Given the description of an element on the screen output the (x, y) to click on. 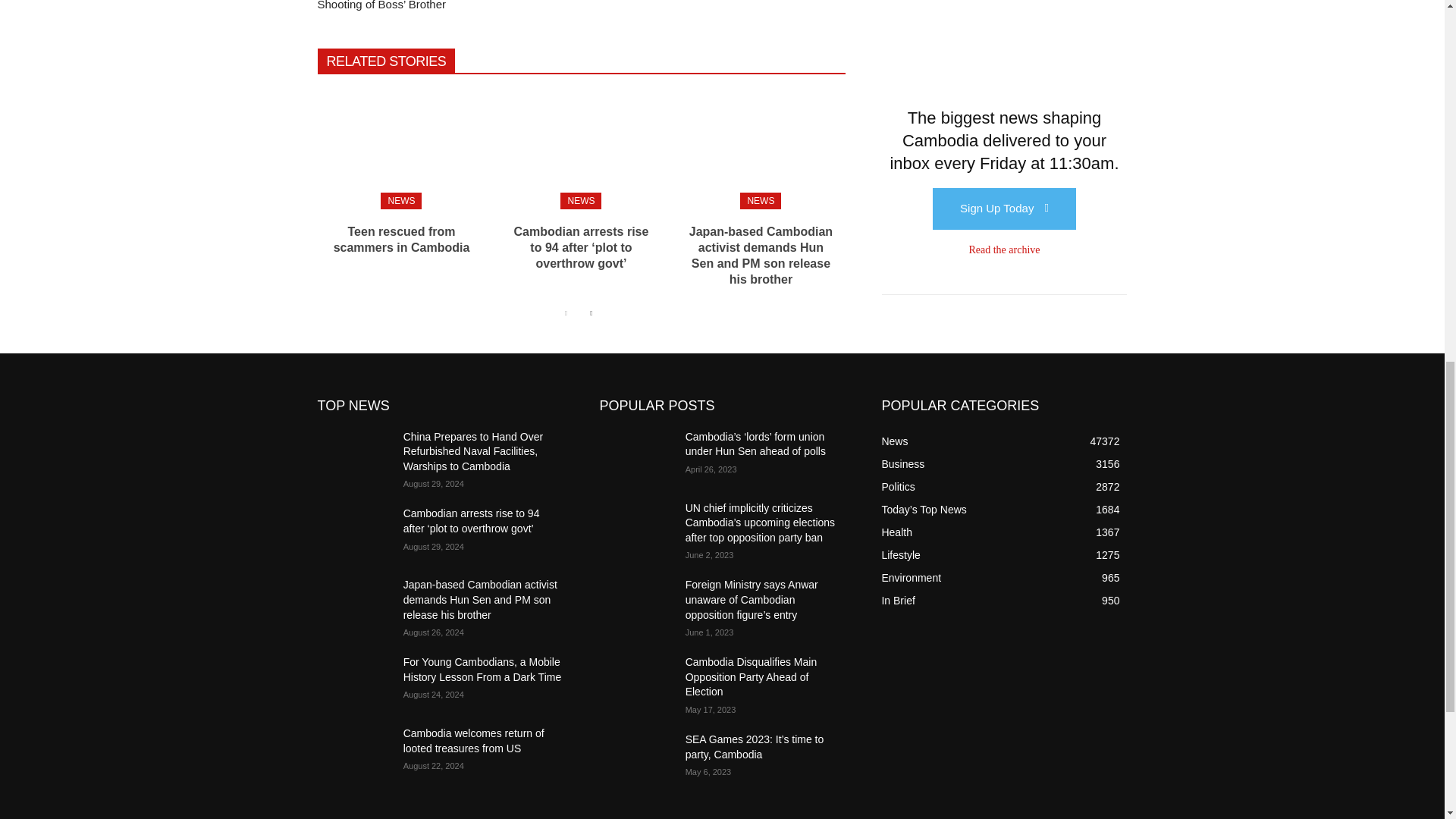
Teen rescued from scammers in Cambodia (400, 147)
NEWS (580, 200)
Teen rescued from scammers in Cambodia (401, 239)
Teen rescued from scammers in Cambodia (401, 239)
NEWS (401, 200)
